Given the description of an element on the screen output the (x, y) to click on. 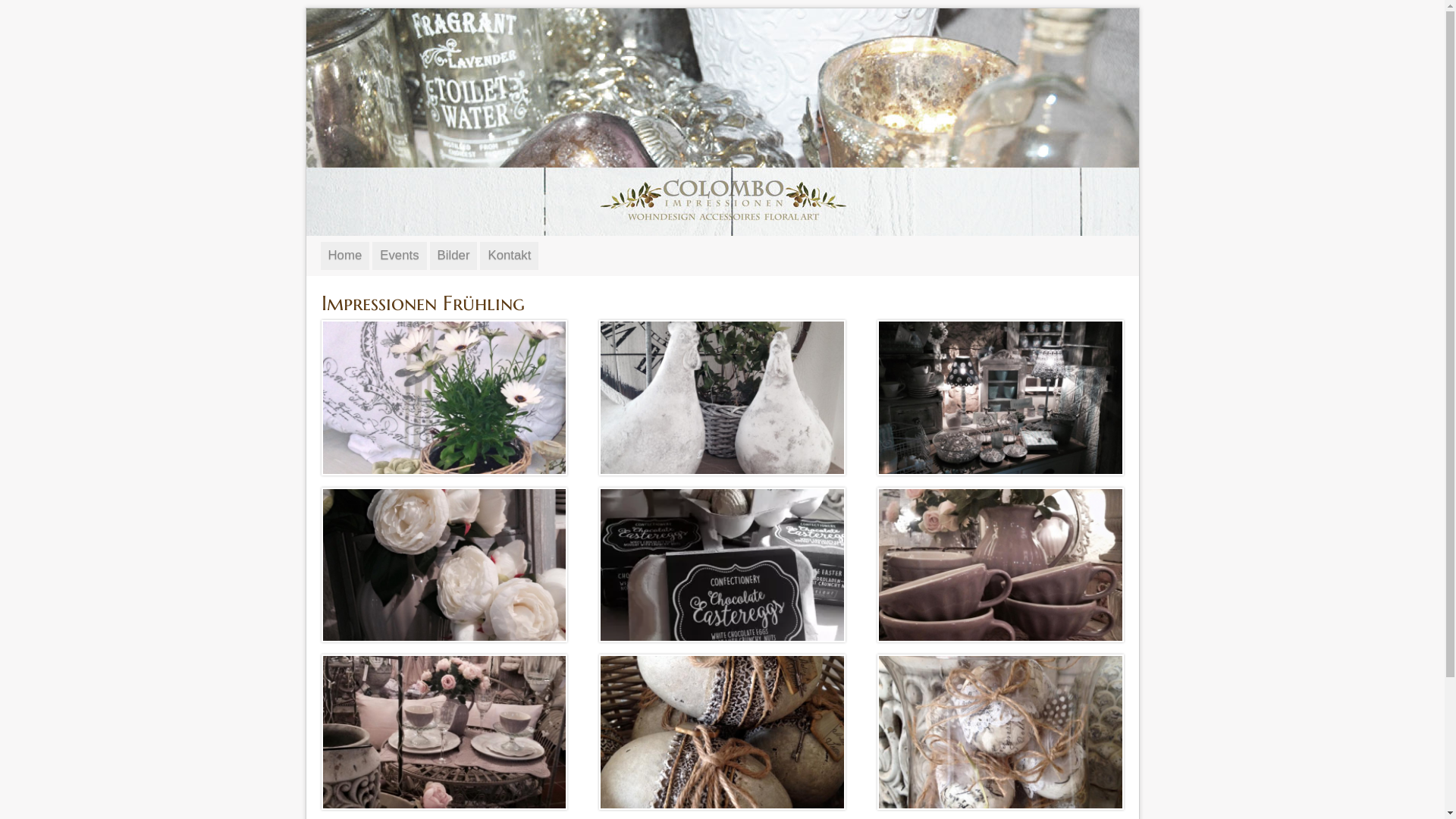
Bilder Element type: text (453, 255)
Home Element type: text (344, 255)
Kontakt Element type: text (509, 255)
Events Element type: text (399, 255)
